Given the description of an element on the screen output the (x, y) to click on. 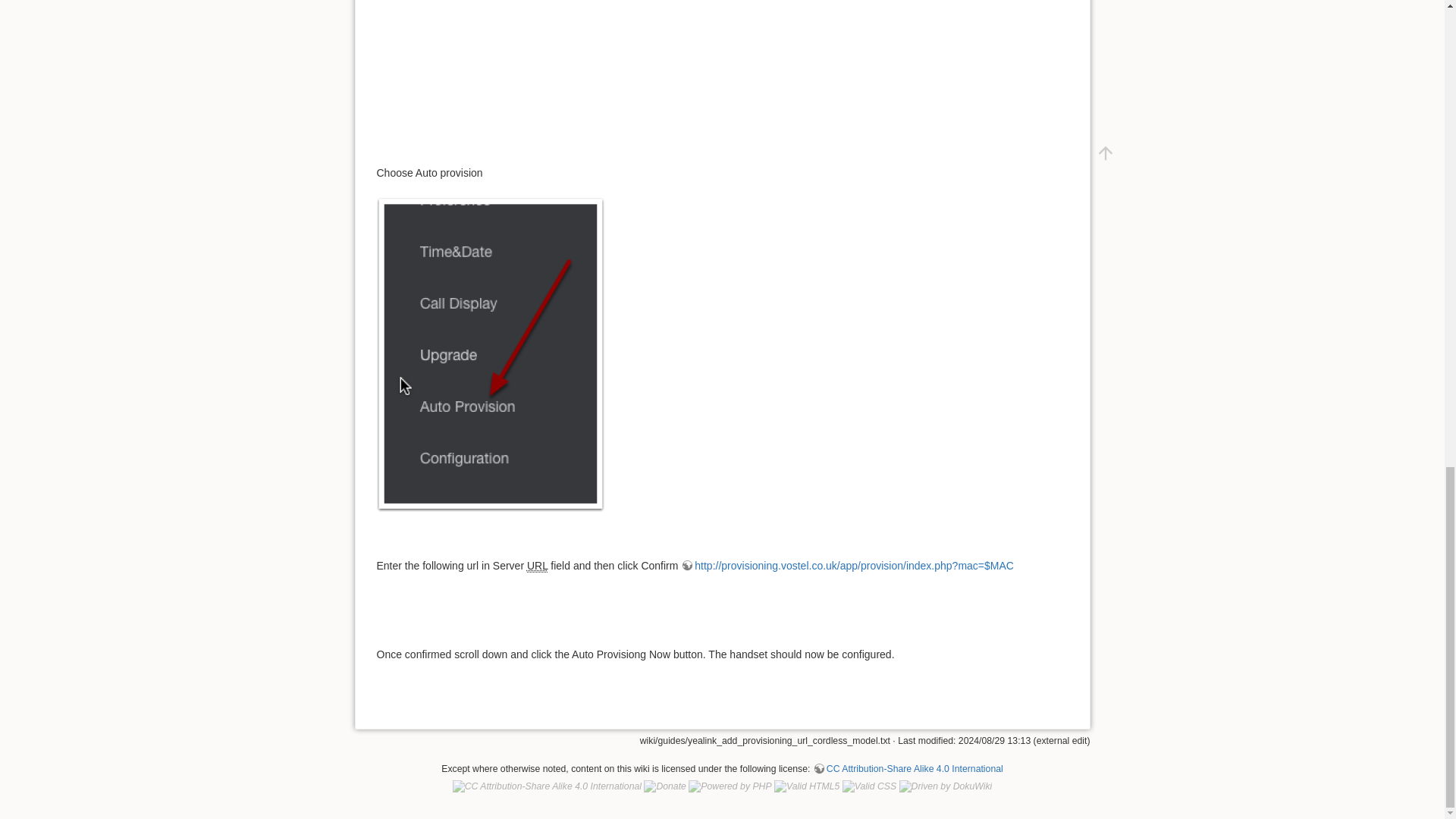
CC Attribution-Share Alike 4.0 International (907, 768)
wiki:guides:yealink:yealink-provisioning-3.png (489, 354)
Uniform Resource Locator (537, 565)
